Given the description of an element on the screen output the (x, y) to click on. 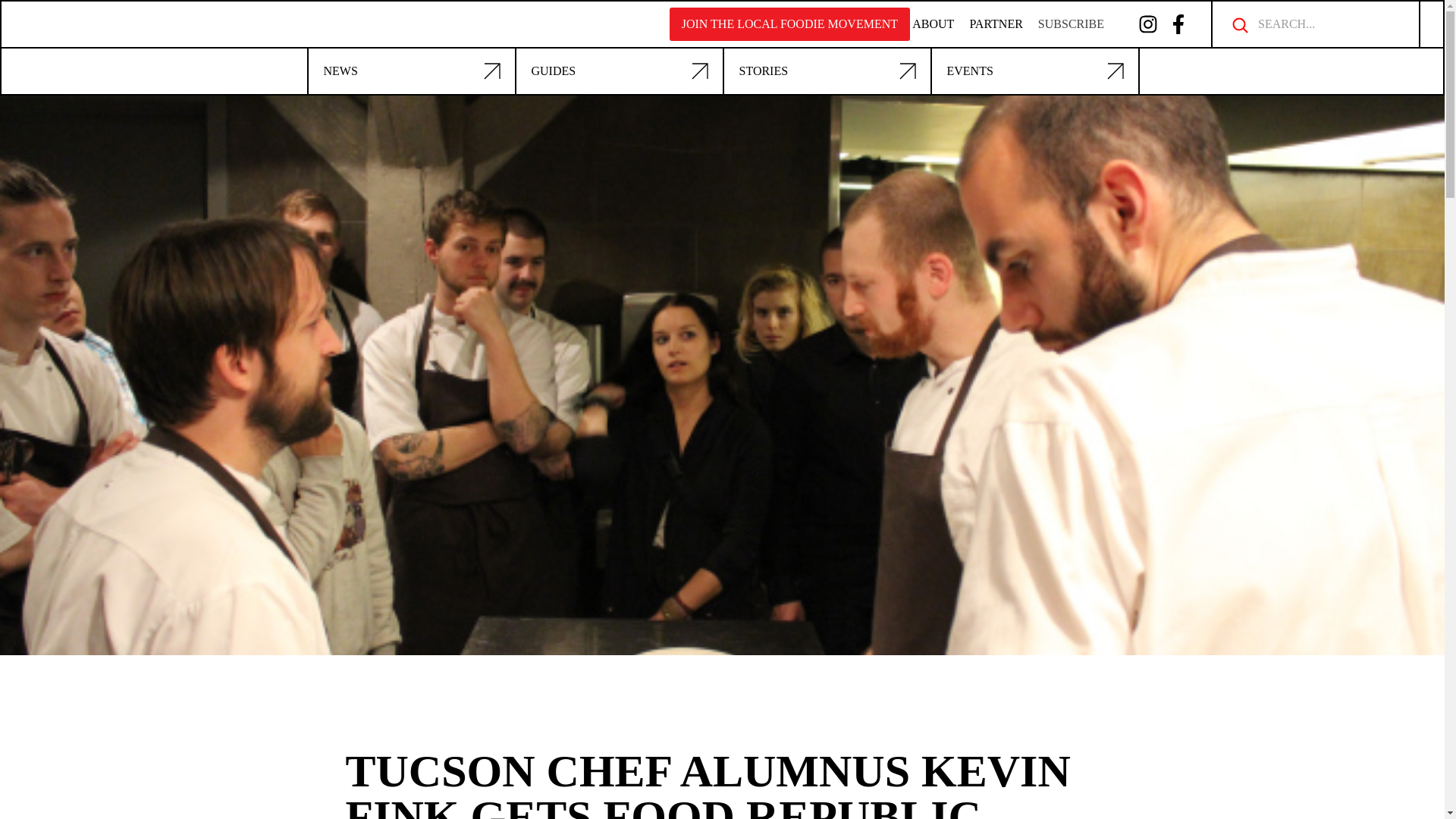
JOIN THE LOCAL FOODIE MOVEMENT (789, 23)
GUIDES (618, 71)
PARTNER (995, 24)
NEWS (410, 71)
EVENTS (1034, 71)
STORIES (826, 71)
ABOUT (932, 24)
